Given the description of an element on the screen output the (x, y) to click on. 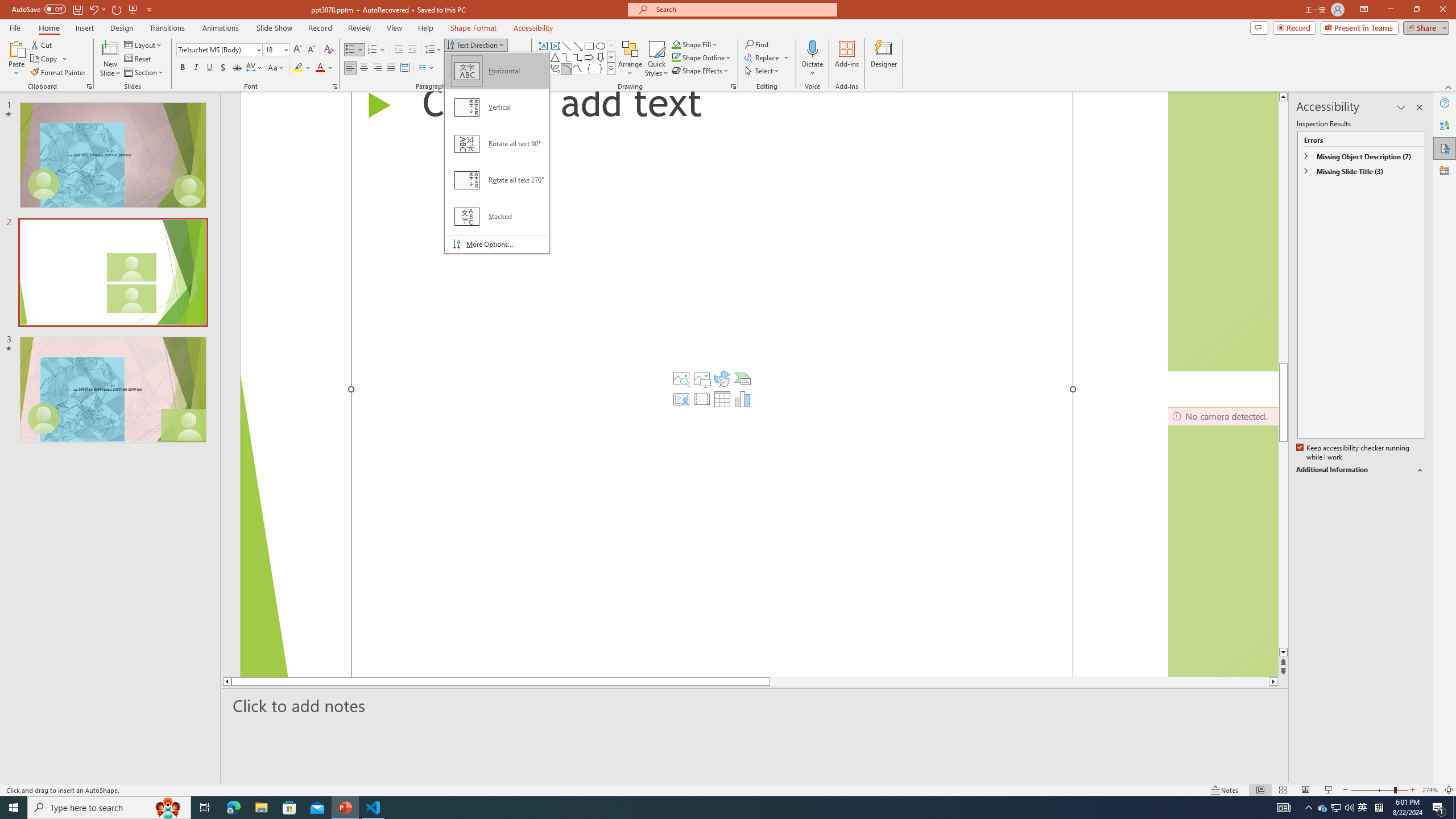
Camera 5, No camera detected. (1222, 231)
Insert Cameo (681, 398)
